Given the description of an element on the screen output the (x, y) to click on. 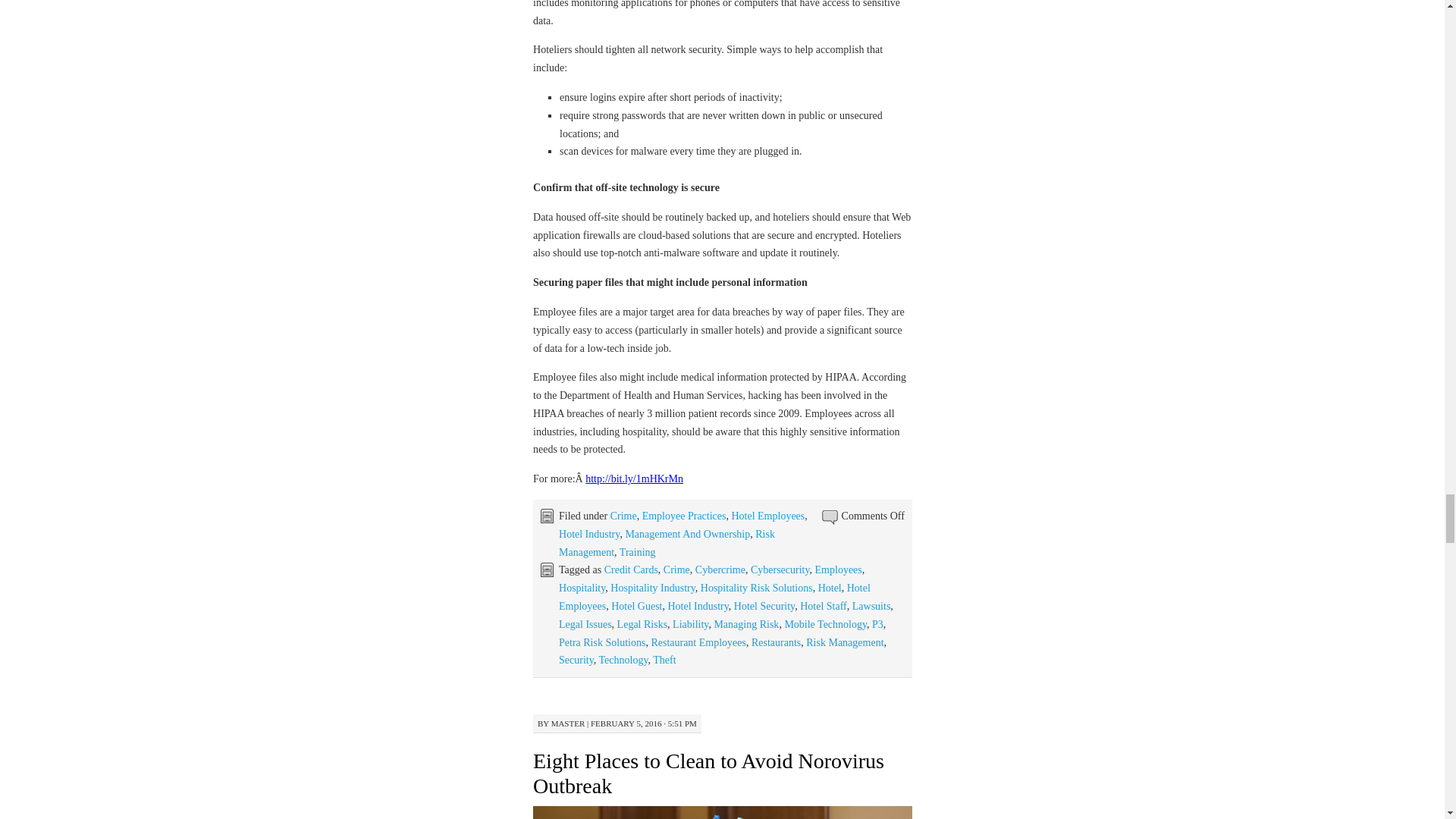
View all posts by master (568, 723)
